Given the description of an element on the screen output the (x, y) to click on. 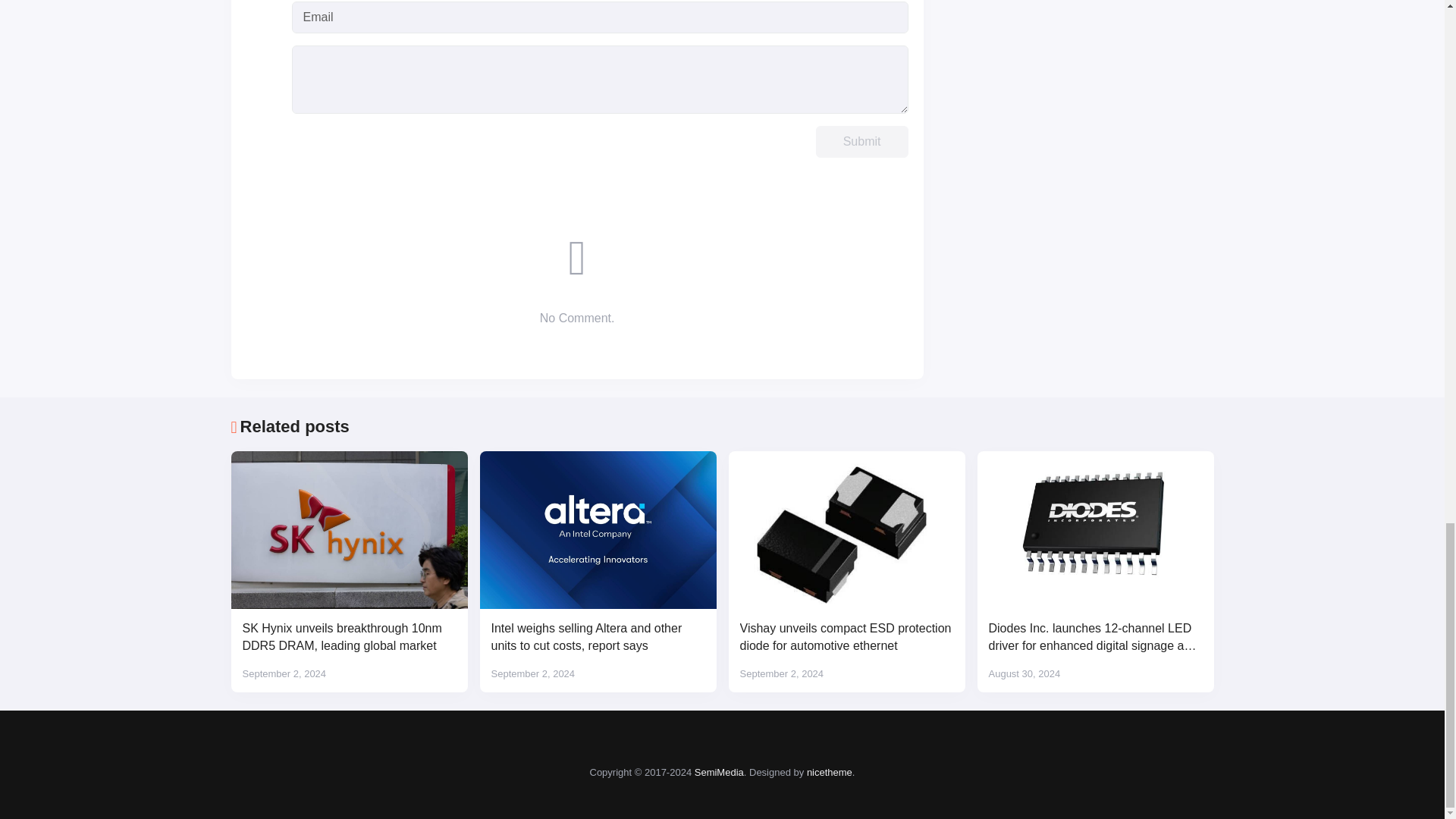
Submit (861, 142)
Submit (861, 142)
